Given the description of an element on the screen output the (x, y) to click on. 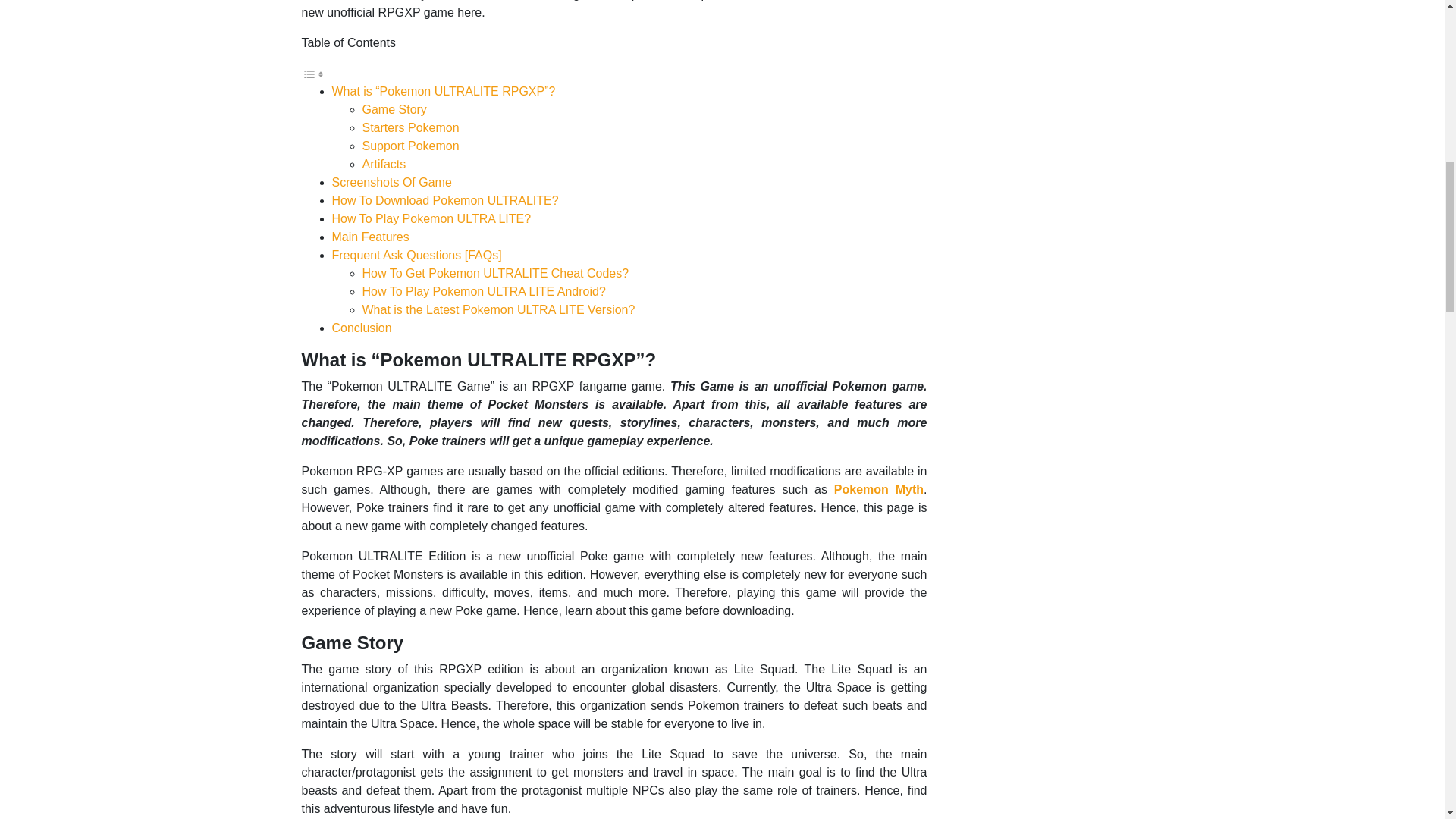
Pokemon Myth (878, 489)
Support Pokemon (411, 145)
How To Play Pokemon ULTRA LITE Android? (483, 291)
Starters Pokemon (411, 127)
What is the Latest Pokemon ULTRA LITE Version? (498, 309)
How To Play Pokemon ULTRA LITE? (431, 218)
How To Download Pokemon ULTRALITE? (445, 200)
Support Pokemon (411, 145)
Conclusion (361, 327)
Starters Pokemon (411, 127)
Game Story (394, 109)
Artifacts (384, 164)
Screenshots Of Game (391, 182)
How To Play Pokemon ULTRA LITE? (431, 218)
Screenshots Of Game (391, 182)
